Given the description of an element on the screen output the (x, y) to click on. 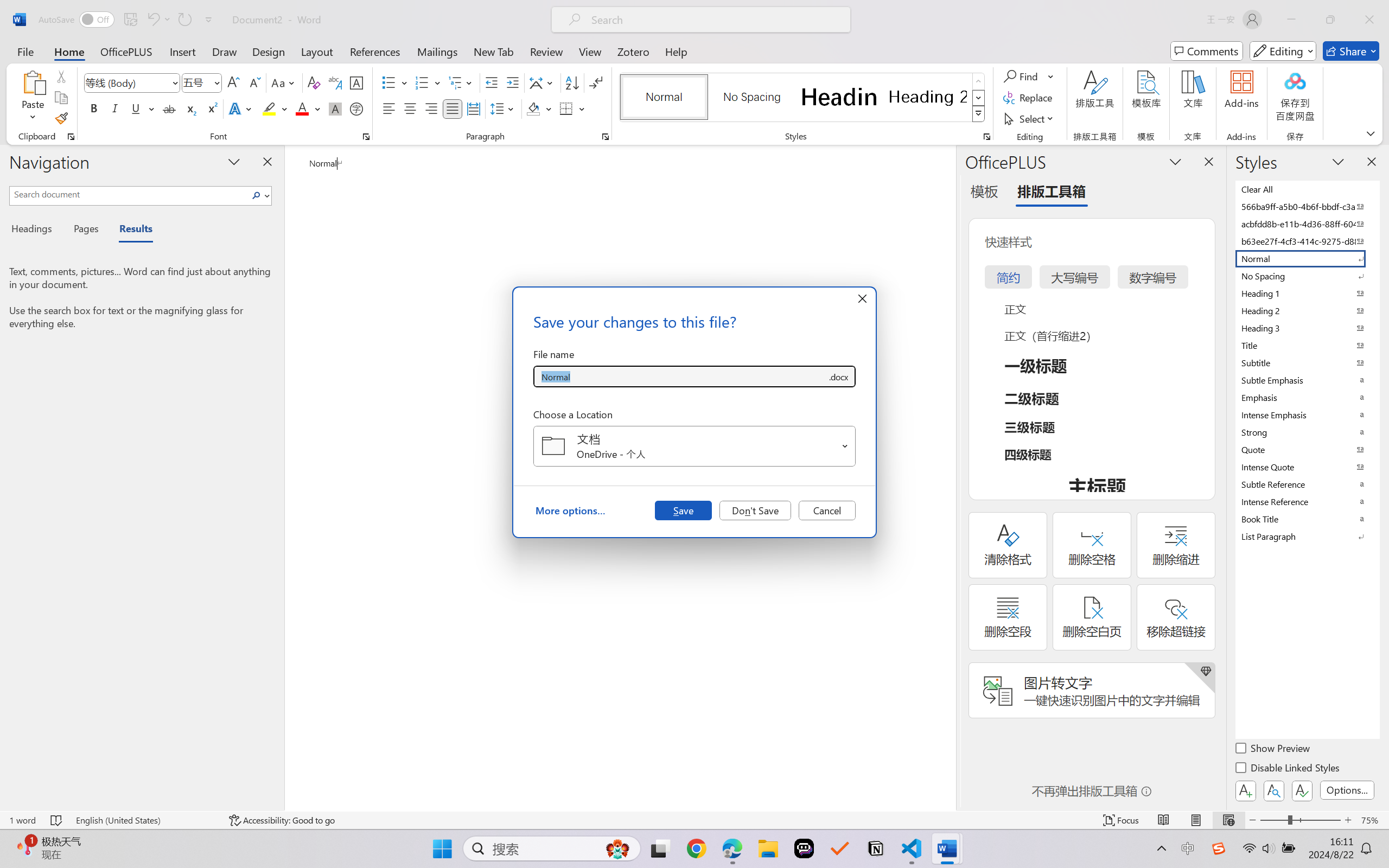
Intense Reference (1306, 501)
Font Color Red (302, 108)
Pages (85, 229)
Headings (35, 229)
Subtle Reference (1306, 484)
Spelling and Grammar Check No Errors (56, 819)
Review (546, 51)
